Given the description of an element on the screen output the (x, y) to click on. 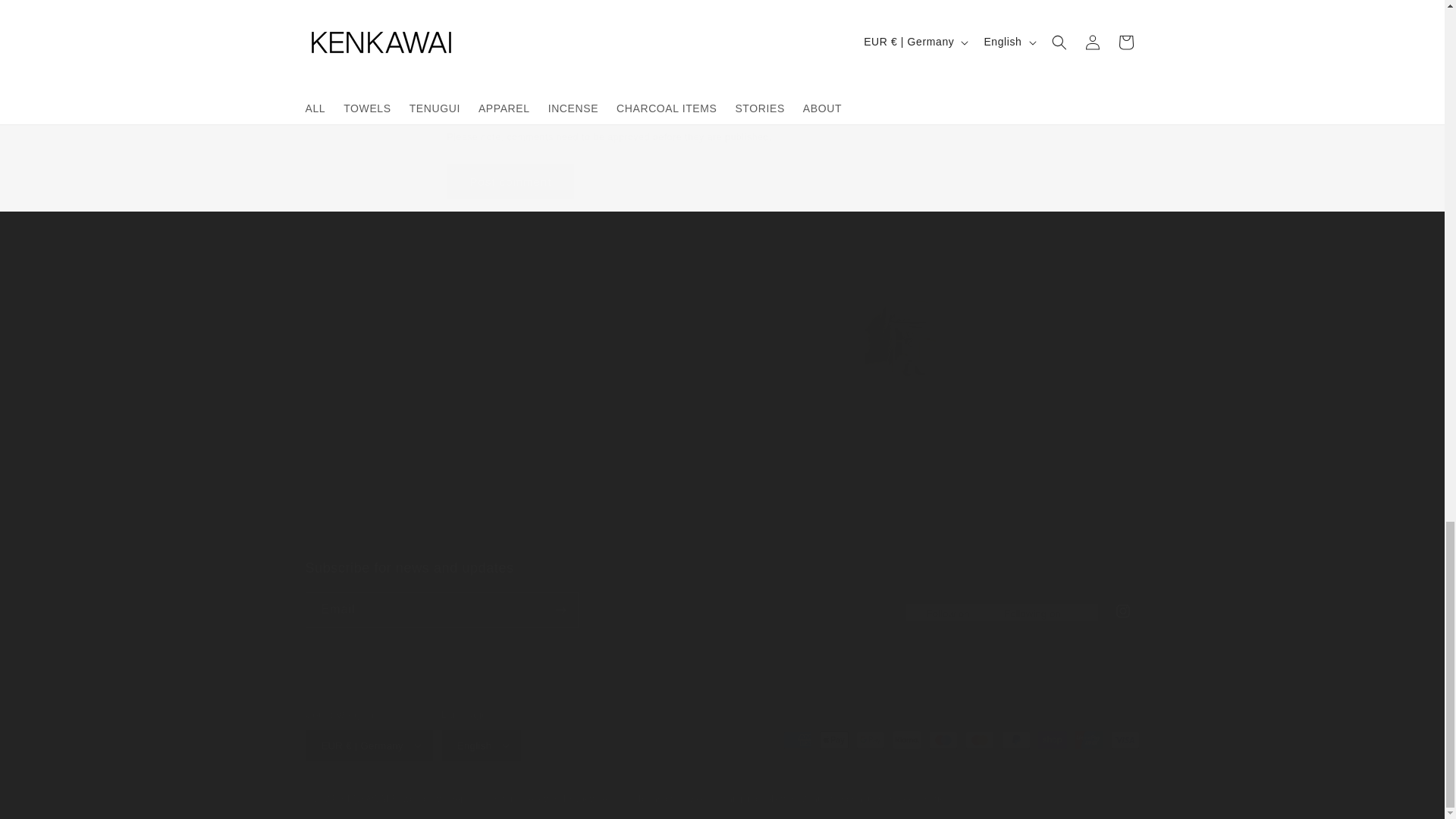
Post comment (721, 593)
